Given the description of an element on the screen output the (x, y) to click on. 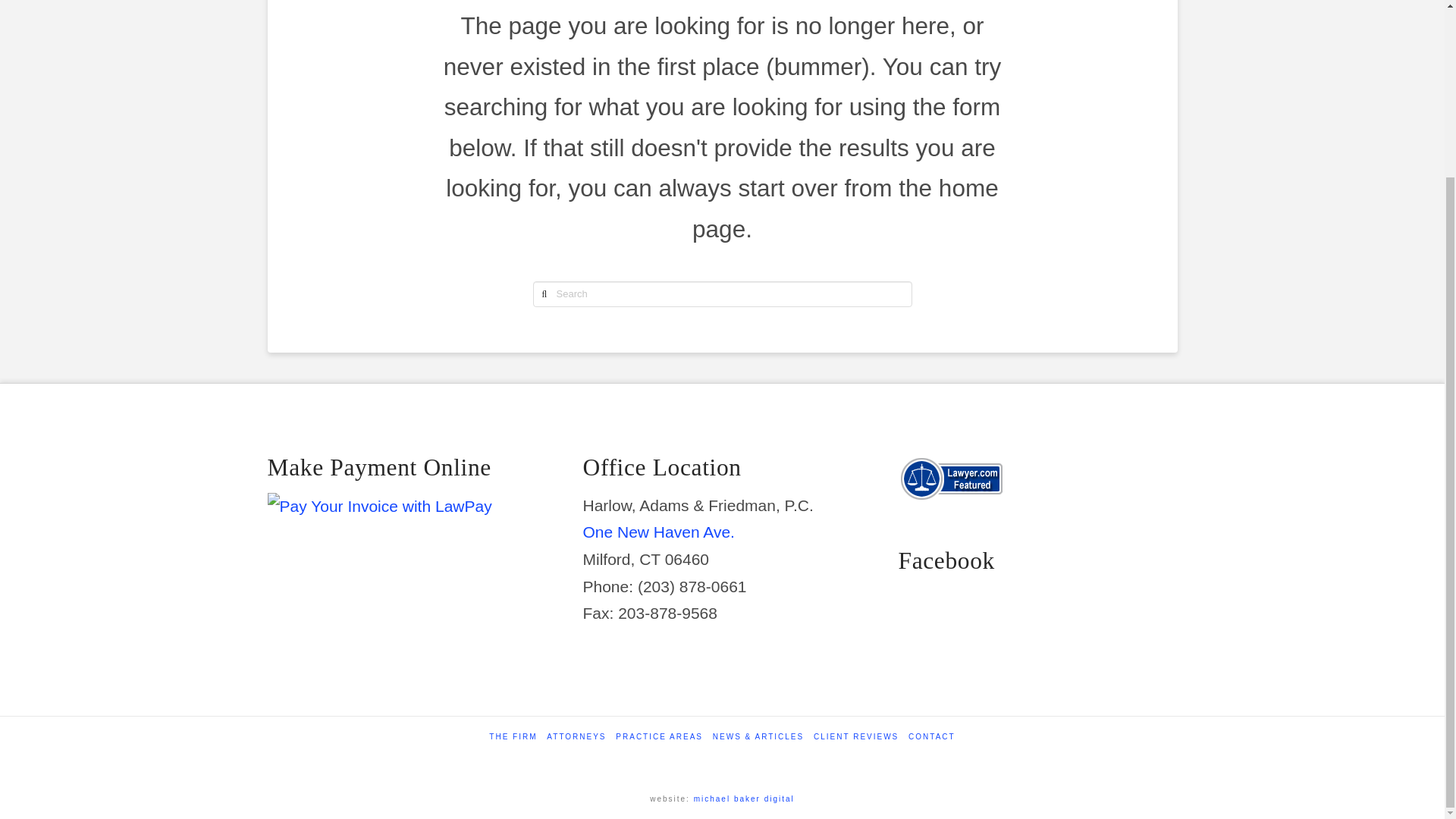
CONTACT (931, 737)
michael baker digital (744, 798)
CLIENT REVIEWS (855, 737)
PRACTICE AREAS (659, 737)
One New Haven Ave. (657, 531)
THE FIRM (513, 737)
ATTORNEYS (576, 737)
